Given the description of an element on the screen output the (x, y) to click on. 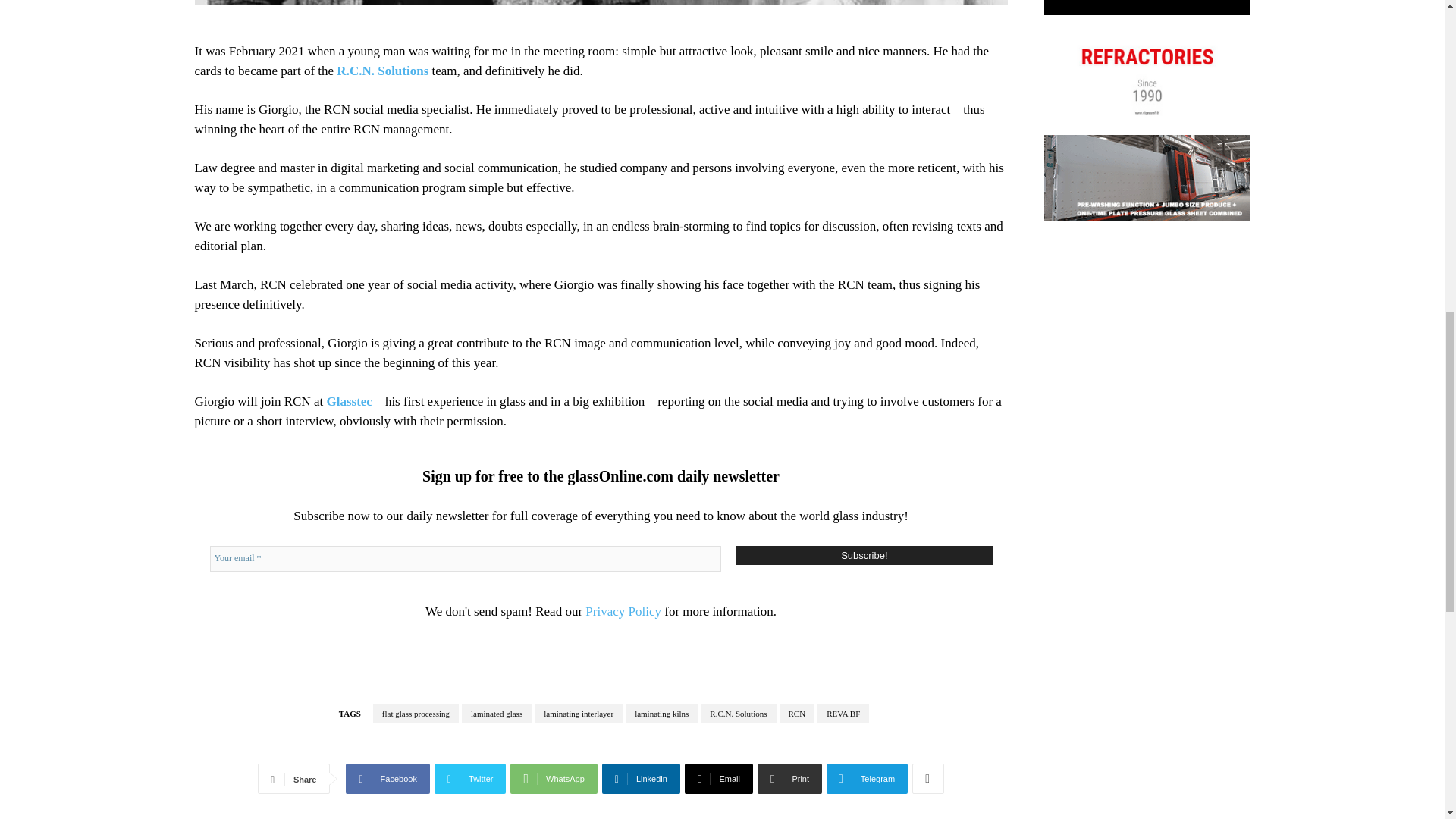
Twitter (469, 778)
WhatsApp (553, 778)
Linkedin (640, 778)
Subscribe! (863, 555)
Print (789, 778)
Your email (464, 558)
Facebook (387, 778)
Email (718, 778)
